Given the description of an element on the screen output the (x, y) to click on. 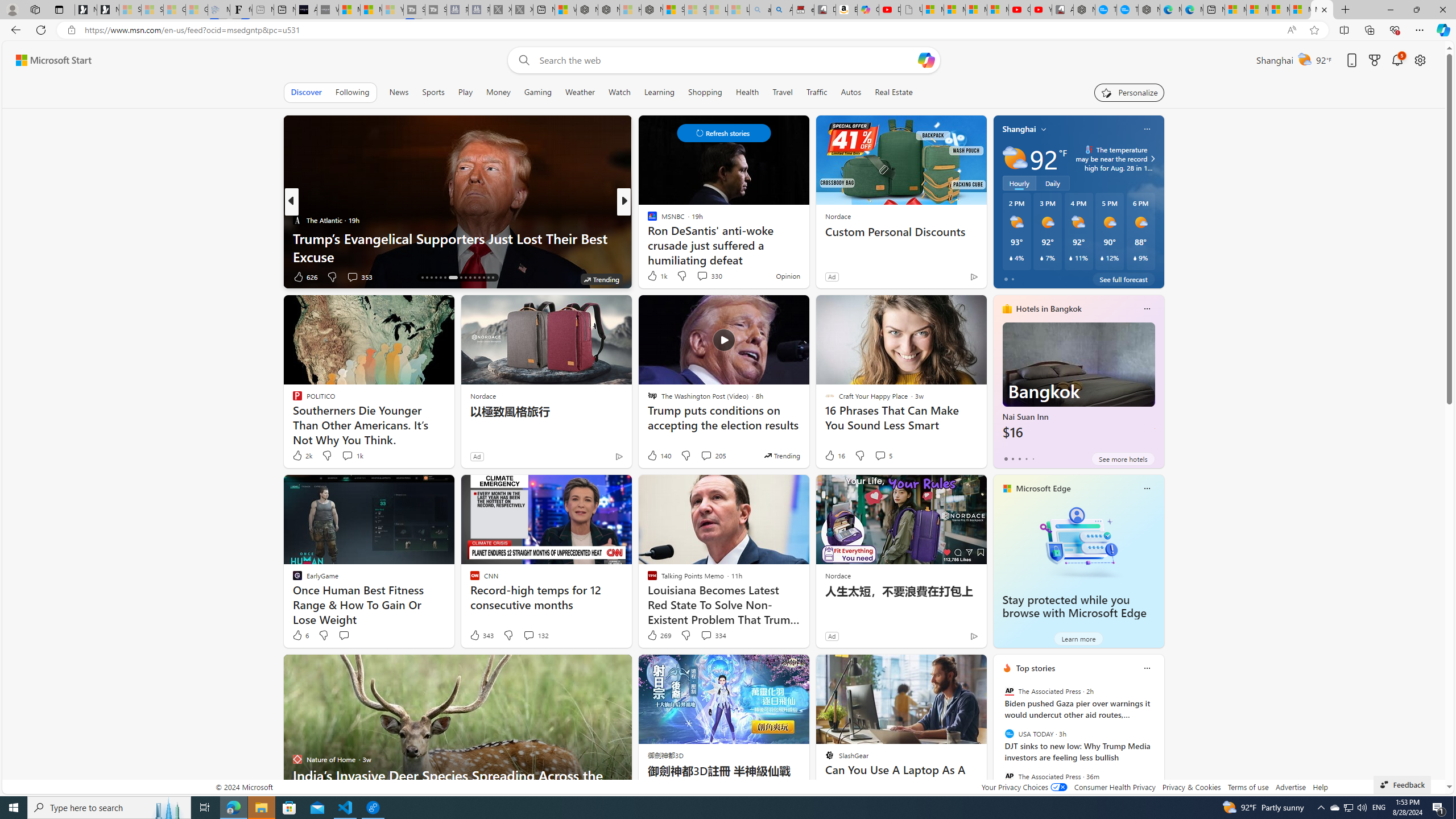
Planning to Organize (647, 219)
18 Like (652, 276)
181 Like (654, 276)
View comments 205 Comment (705, 455)
Web search (520, 60)
Daily (1052, 183)
Streaming Coverage | T3 - Sleeping (413, 9)
View comments 33 Comment (704, 276)
AutomationID: tab-27 (478, 277)
View comments 334 Comment (712, 634)
More options (1146, 668)
Gloom - YouTube (1019, 9)
Top stories (1035, 668)
